Given the description of an element on the screen output the (x, y) to click on. 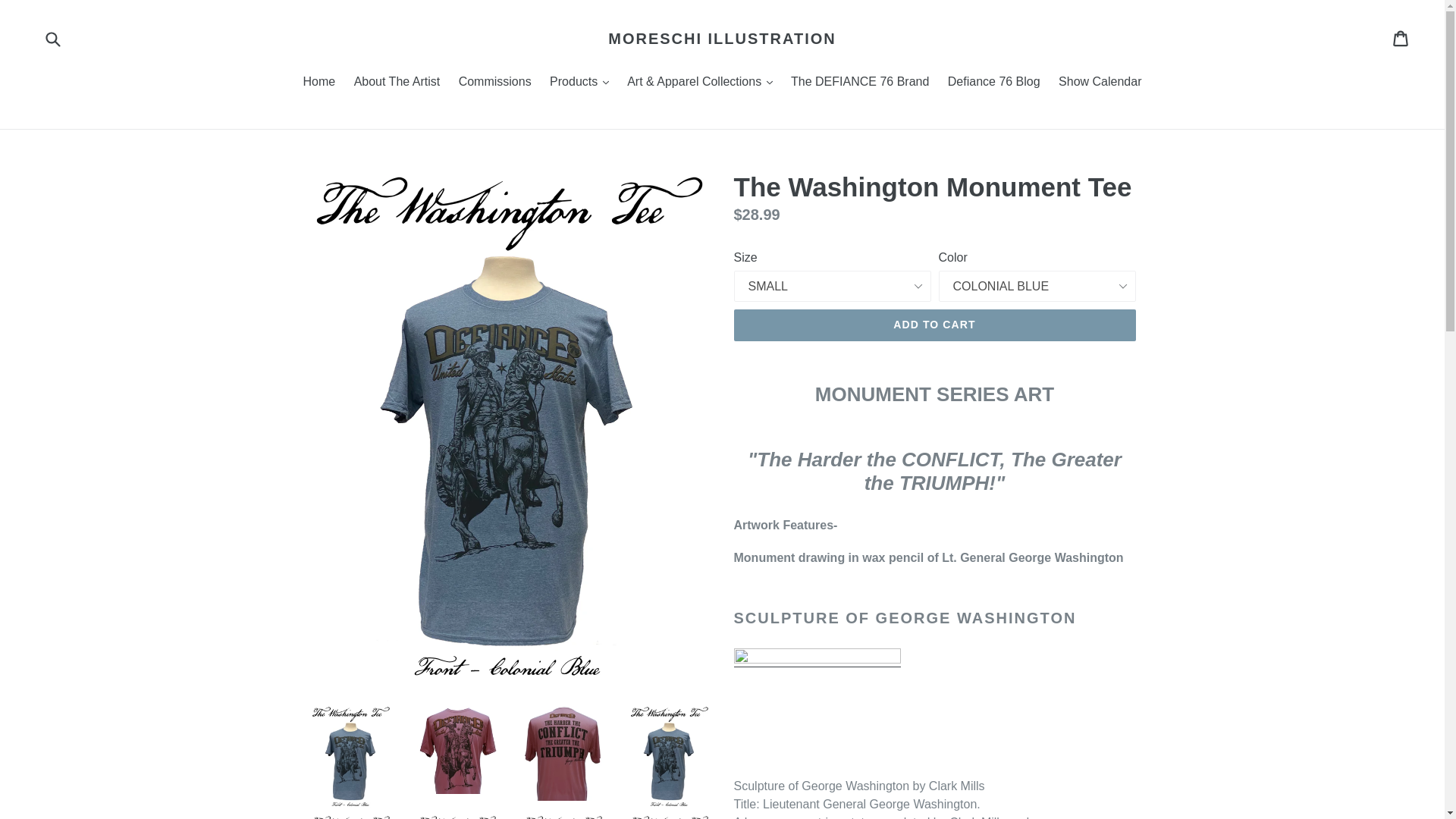
Home (319, 82)
MORESCHI ILLUSTRATION (721, 38)
Commissions (494, 82)
About The Artist (397, 82)
